Given the description of an element on the screen output the (x, y) to click on. 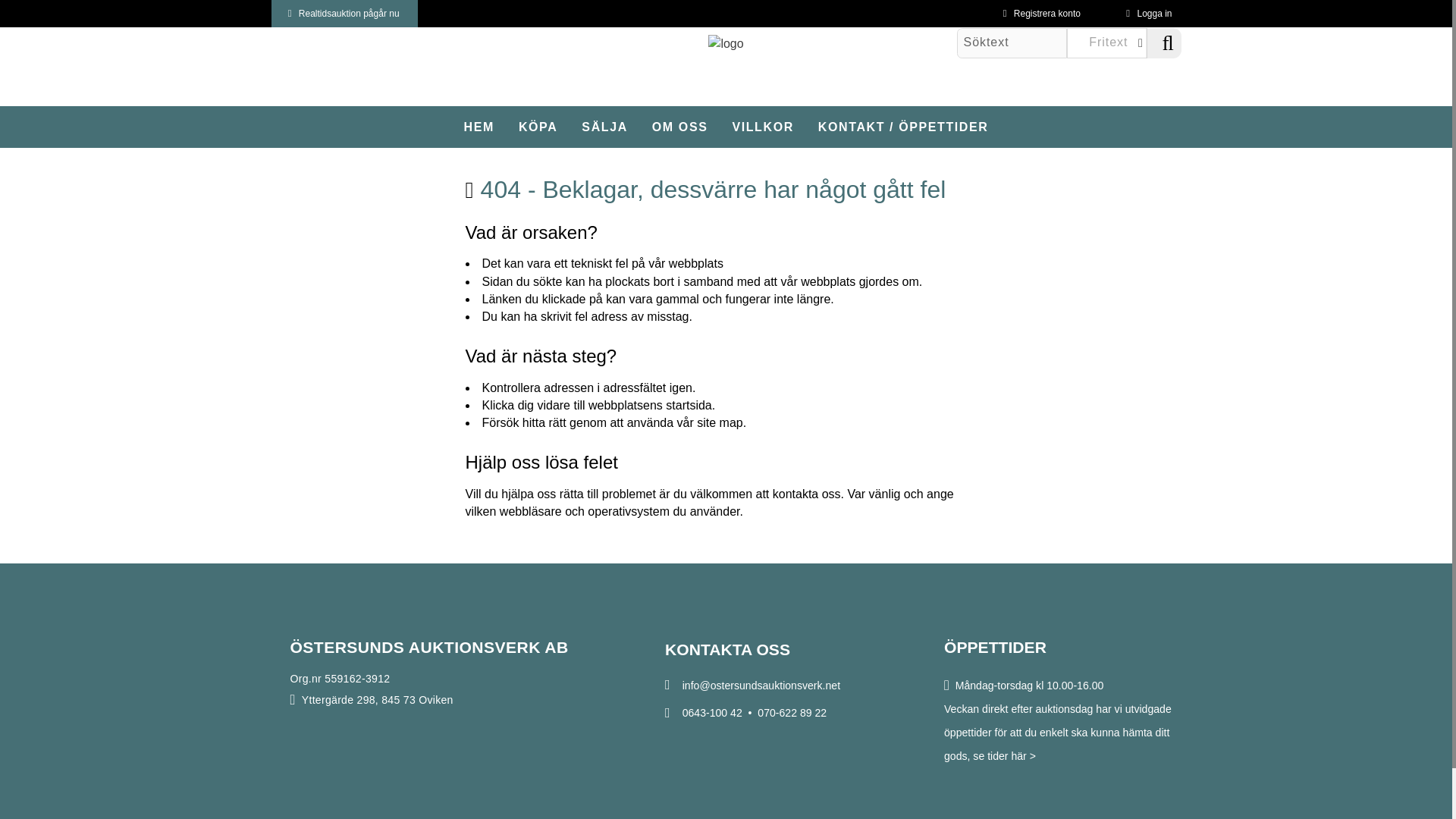
OM OSS (679, 126)
Registrera konto (1041, 13)
Nyckelord (1114, 41)
Logga in (1148, 13)
VILLKOR (762, 126)
0643-100 42 (712, 712)
070-622 89 22 (792, 712)
HEM (479, 126)
